Given the description of an element on the screen output the (x, y) to click on. 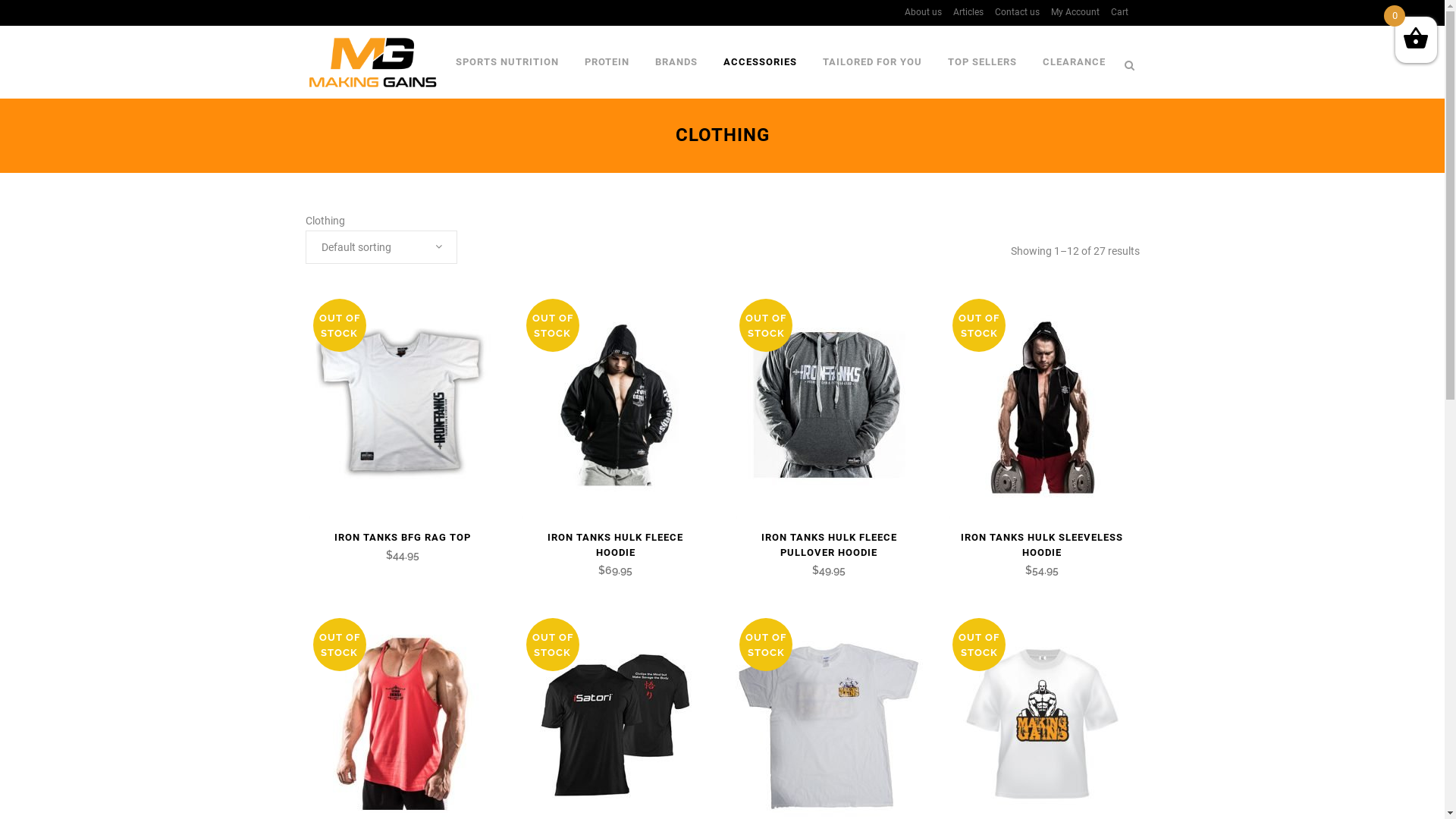
ACCESSORIES Element type: text (759, 61)
Contact us Element type: text (1010, 12)
Cart Element type: text (1113, 12)
IRON TANKS HULK FLEECE HOODIE
$69.95 Element type: text (615, 549)
TOP SELLERS Element type: text (981, 61)
My Account Element type: text (1068, 12)
BRANDS Element type: text (675, 61)
CLEARANCE Element type: text (1073, 61)
IRON TANKS BFG RAG TOP
$44.95 Element type: text (401, 541)
IRON TANKS HULK SLEEVELESS HOODIE
$54.95 Element type: text (1041, 549)
IRON TANKS HULK FLEECE PULLOVER HOODIE
$49.95 Element type: text (828, 549)
Articles Element type: text (962, 12)
TAILORED FOR YOU Element type: text (872, 61)
About us Element type: text (917, 12)
SPORTS NUTRITION Element type: text (506, 61)
PROTEIN Element type: text (606, 61)
